Given the description of an element on the screen output the (x, y) to click on. 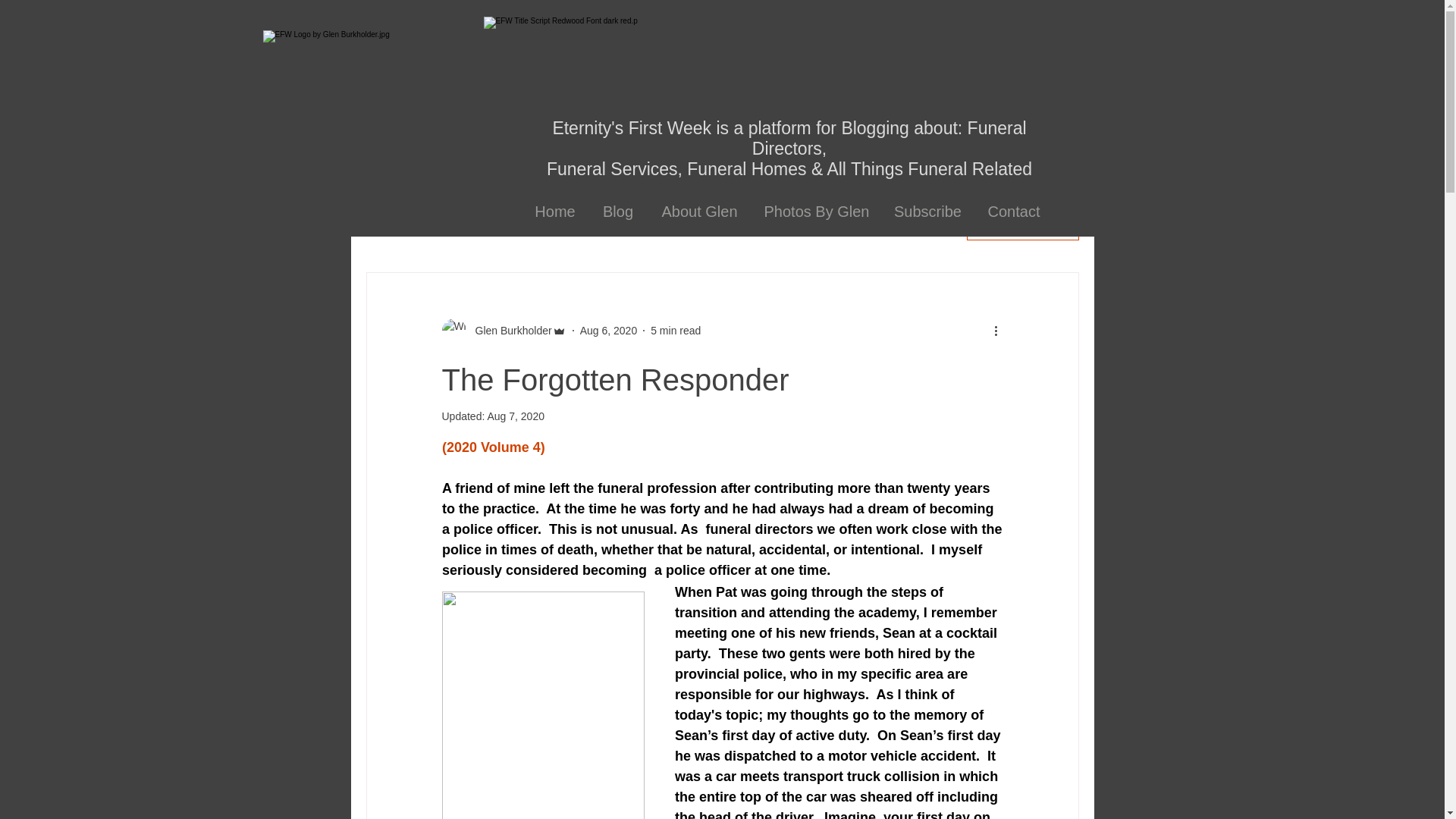
Photos By Glen (817, 212)
About Glen (699, 212)
Contact (1013, 212)
Glen Burkholder (508, 330)
5 min read (675, 330)
Subscribe (927, 212)
Aug 7, 2020 (515, 416)
Blog (617, 212)
Aug 6, 2020 (608, 330)
All Posts (388, 226)
Home (555, 212)
